Given the description of an element on the screen output the (x, y) to click on. 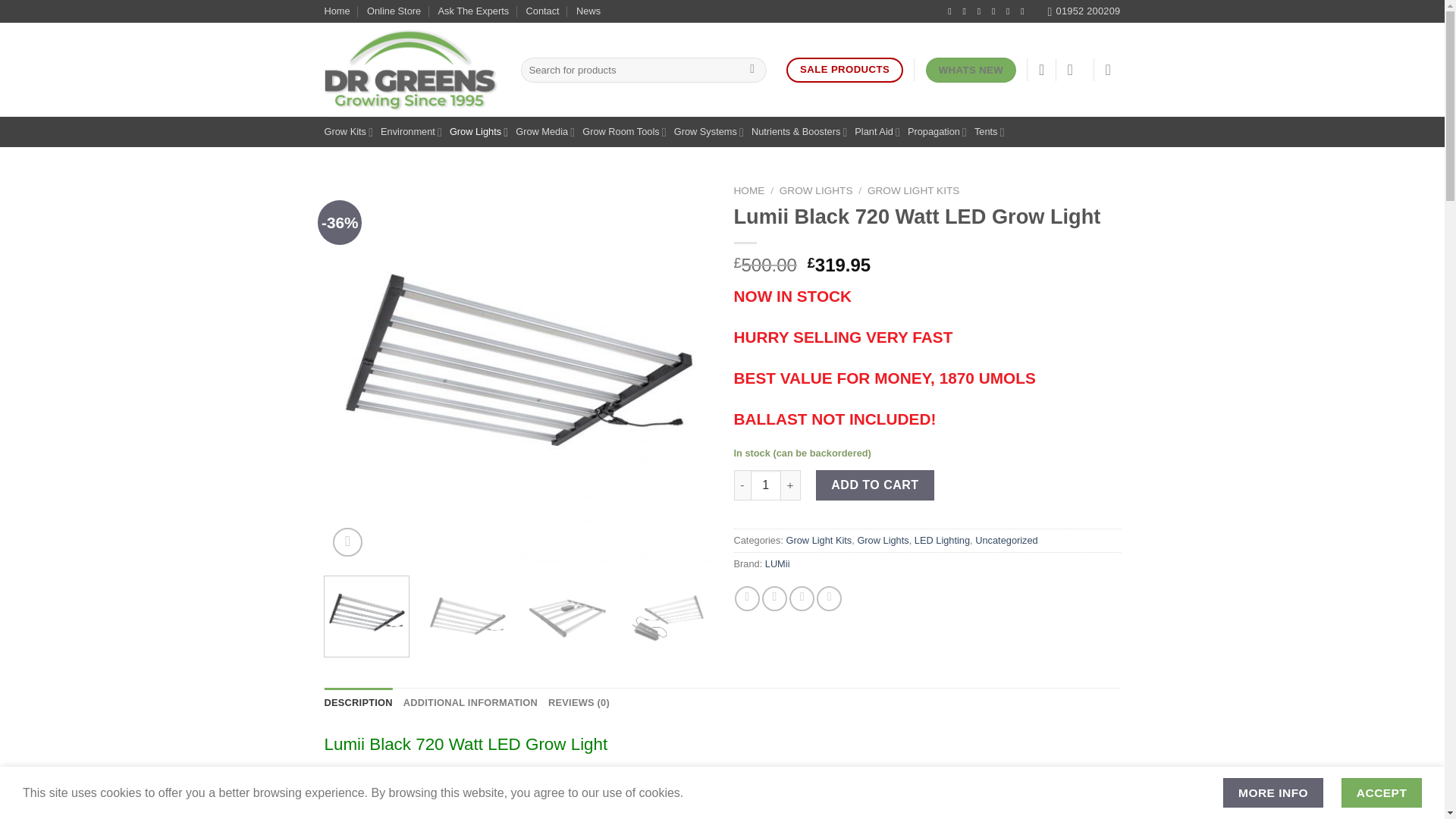
News (587, 11)
Online Store (393, 11)
Ask The Experts (473, 11)
Search (752, 70)
1 (765, 485)
01952 200209 (1082, 11)
Home (337, 11)
01952 200209 (1082, 11)
Environment (411, 132)
Grow Kits (349, 132)
WHATS NEW (971, 70)
Contact (542, 11)
SALE PRODUCTS (844, 69)
